Given the description of an element on the screen output the (x, y) to click on. 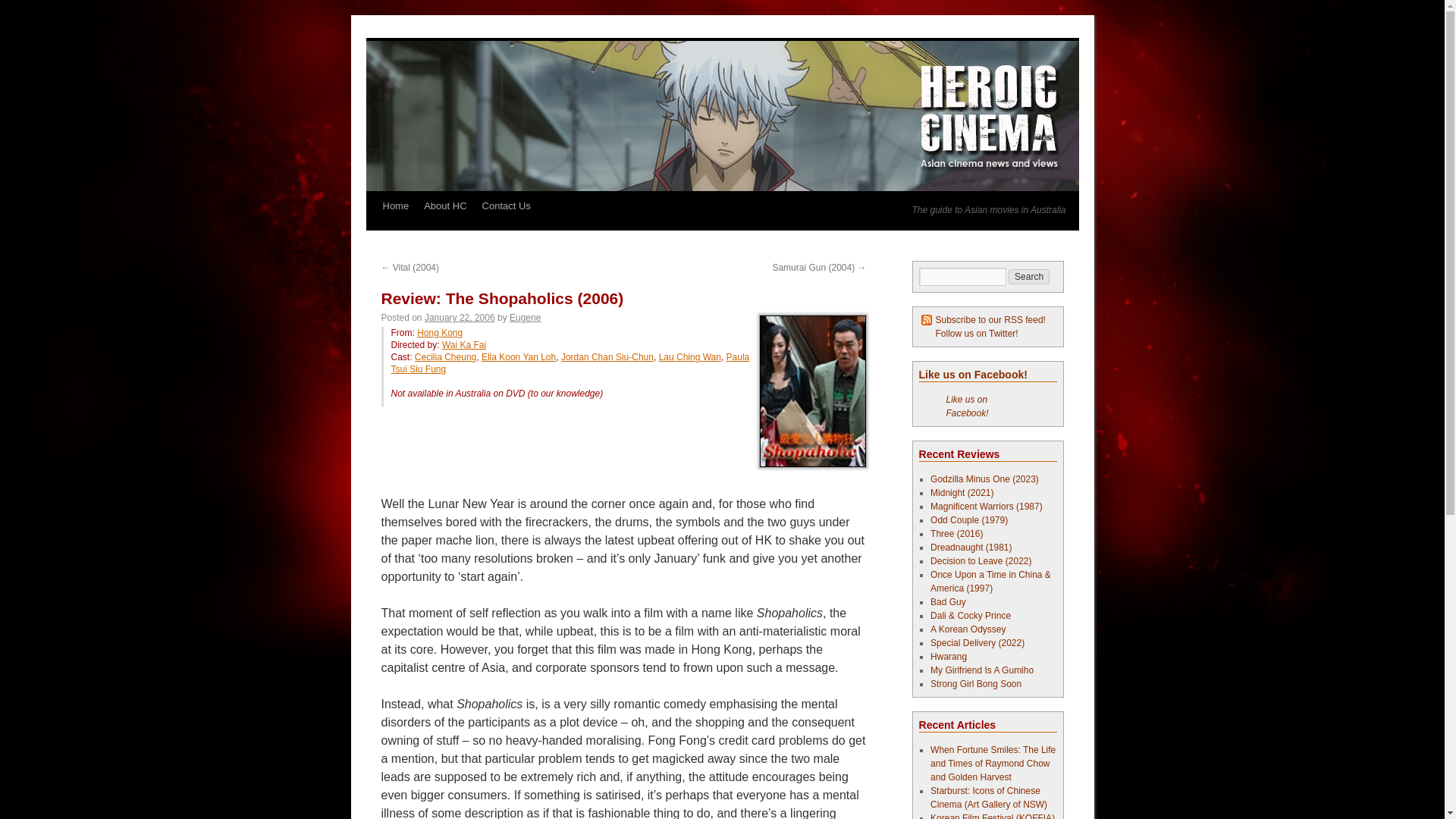
January 22, 2006 (460, 317)
Wai Ka Fai (464, 344)
Subscribe to our RSS feed! (982, 319)
Cecilia Cheung (445, 357)
About HC (445, 205)
Contact Us (506, 205)
Bad Guy (948, 602)
Paula Tsui Siu Fung (570, 363)
Ella Koon Yan Loh (518, 357)
View all posts by Eugene (524, 317)
